Given the description of an element on the screen output the (x, y) to click on. 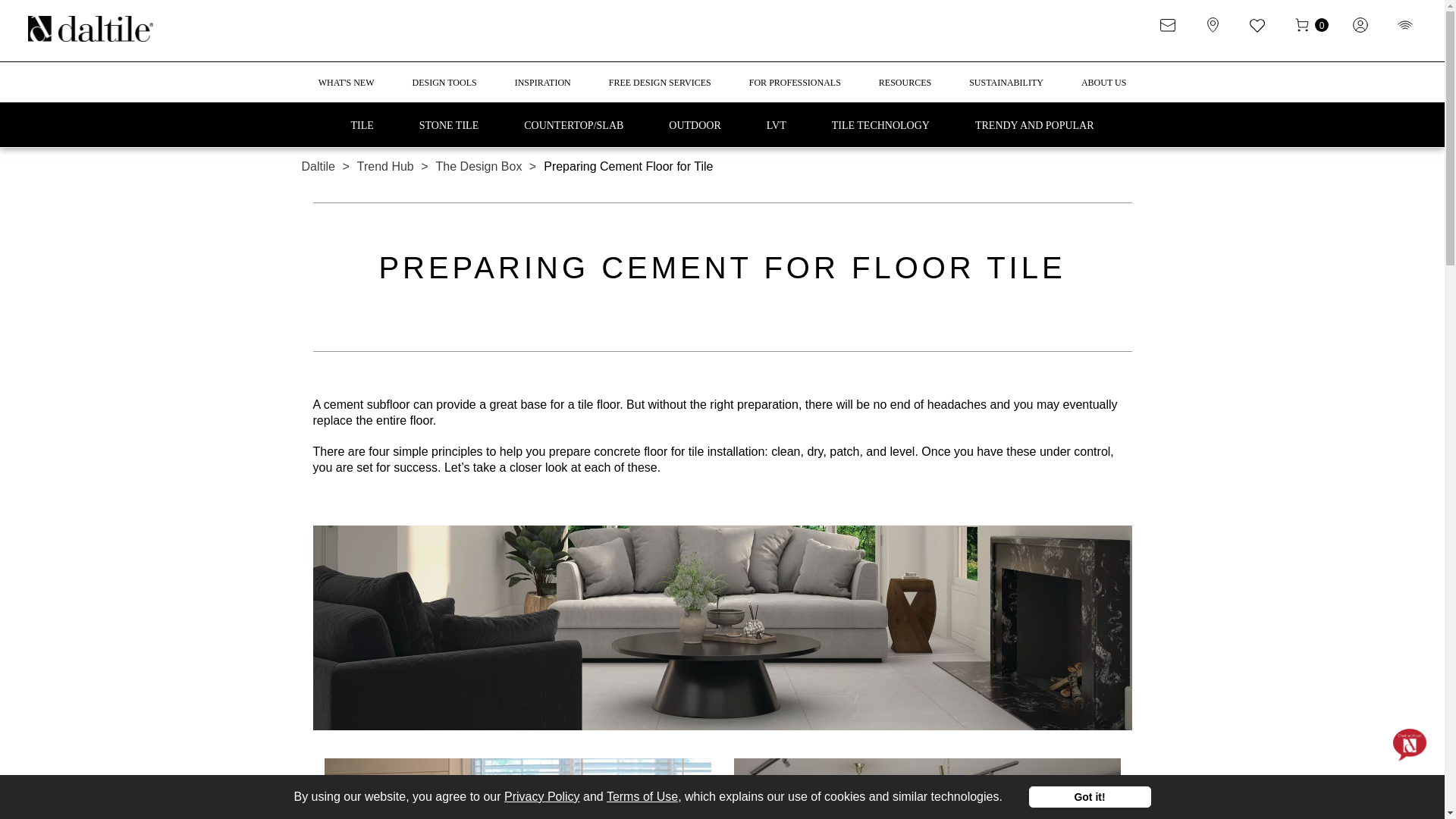
WHAT'S NEW (346, 89)
DESIGN TOOLS (444, 89)
0 (1320, 28)
Site logo - desktop (89, 30)
INSPIRATION (542, 89)
